Given the description of an element on the screen output the (x, y) to click on. 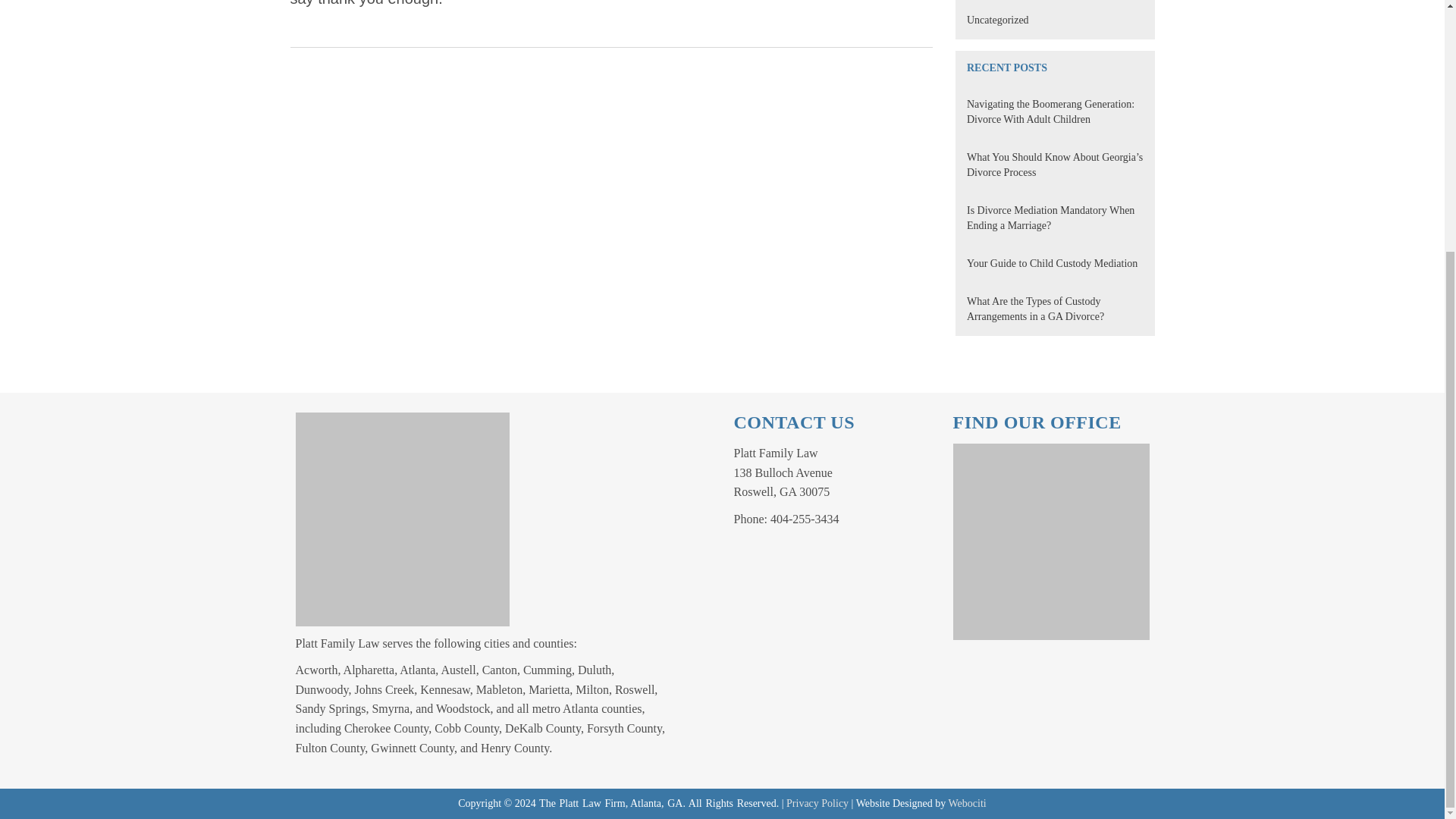
Is Divorce Mediation Mandatory When Ending a Marriage? (1050, 217)
Uncategorized (997, 19)
